Given the description of an element on the screen output the (x, y) to click on. 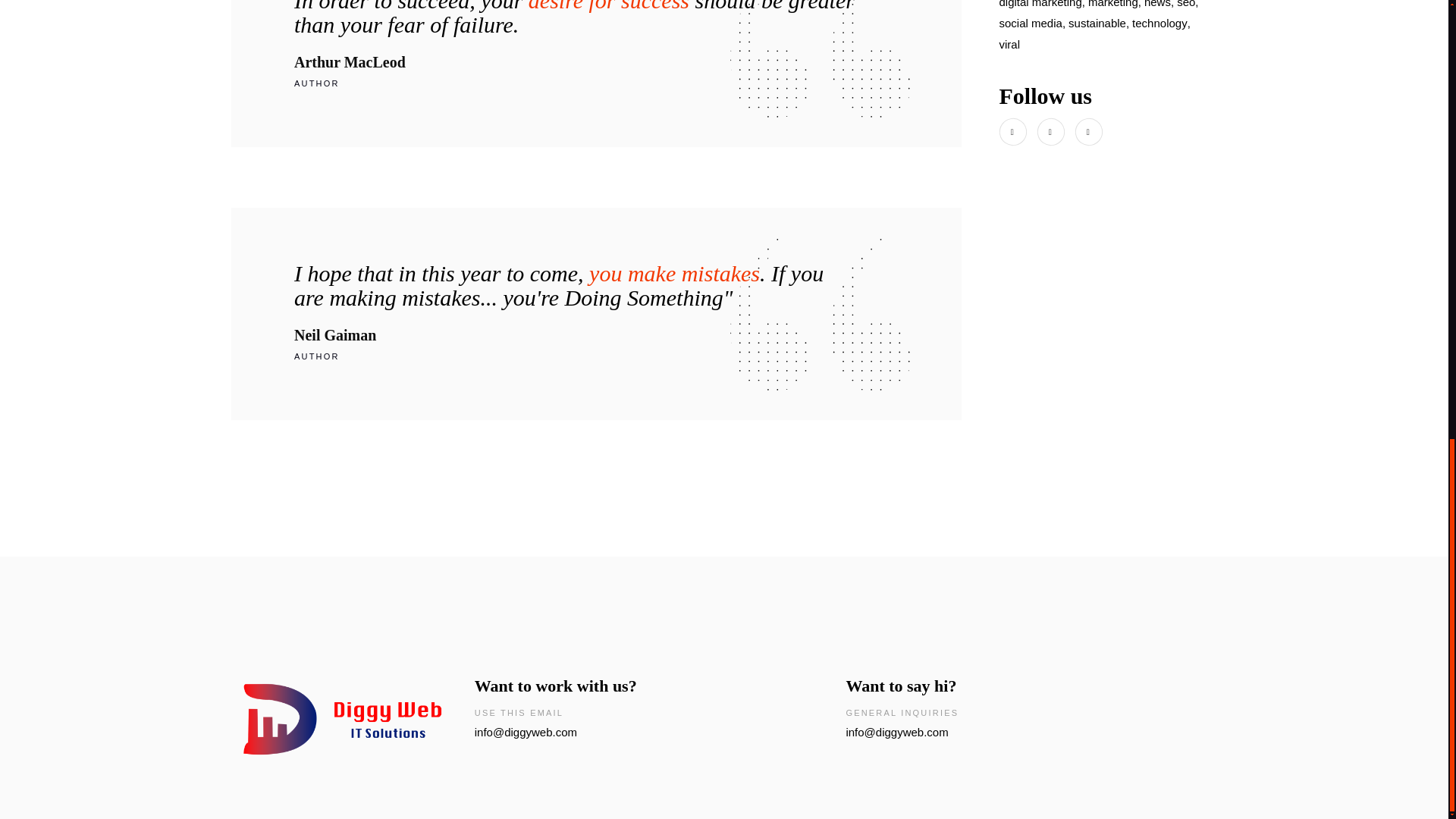
news (1157, 6)
marketing (1112, 6)
digital marketing (1039, 6)
